Given the description of an element on the screen output the (x, y) to click on. 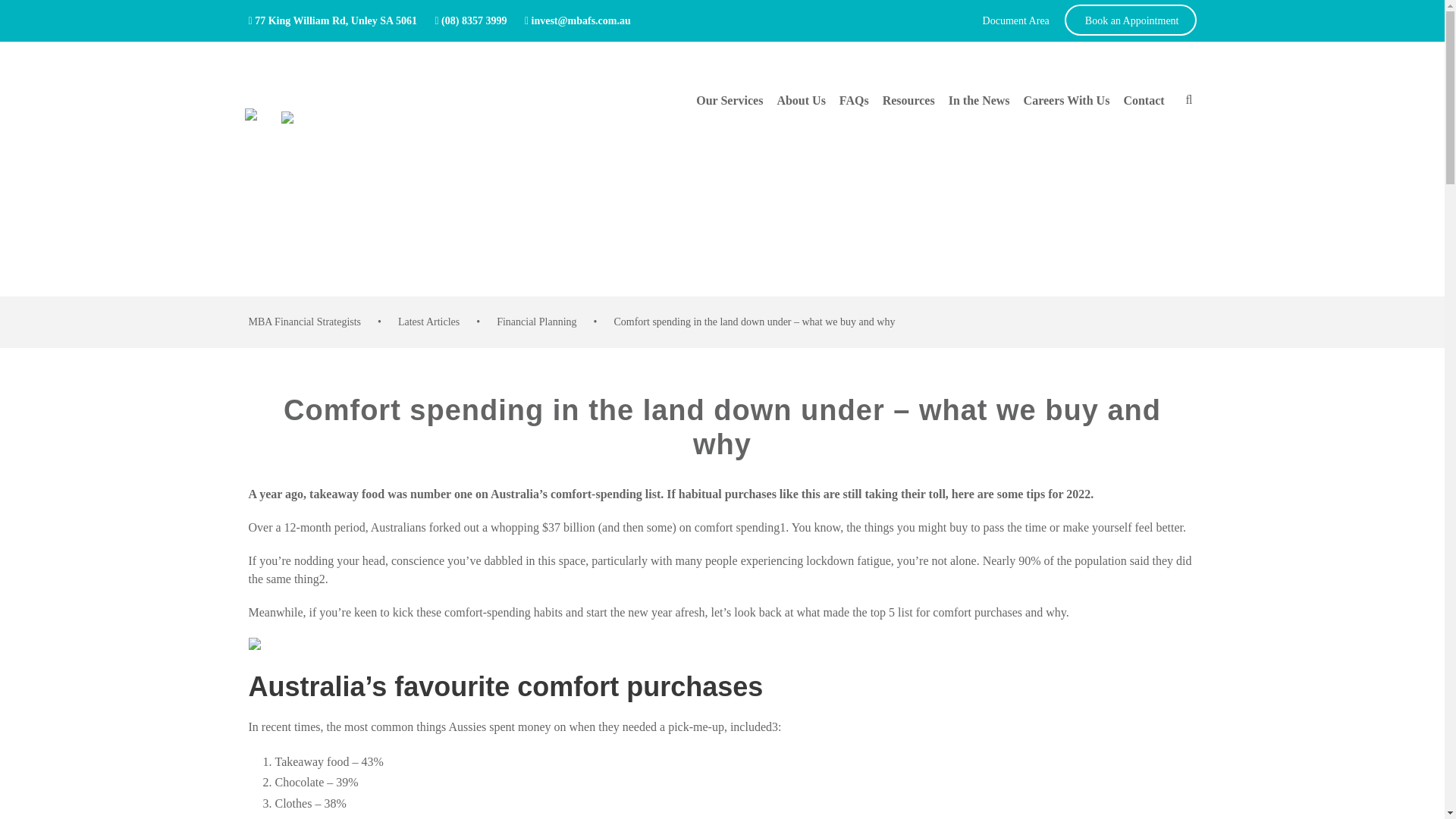
Go to Latest Articles. (428, 321)
Go to MBA Financial Strategists. (304, 321)
Go to the Financial Planning category archives. (536, 321)
